Given the description of an element on the screen output the (x, y) to click on. 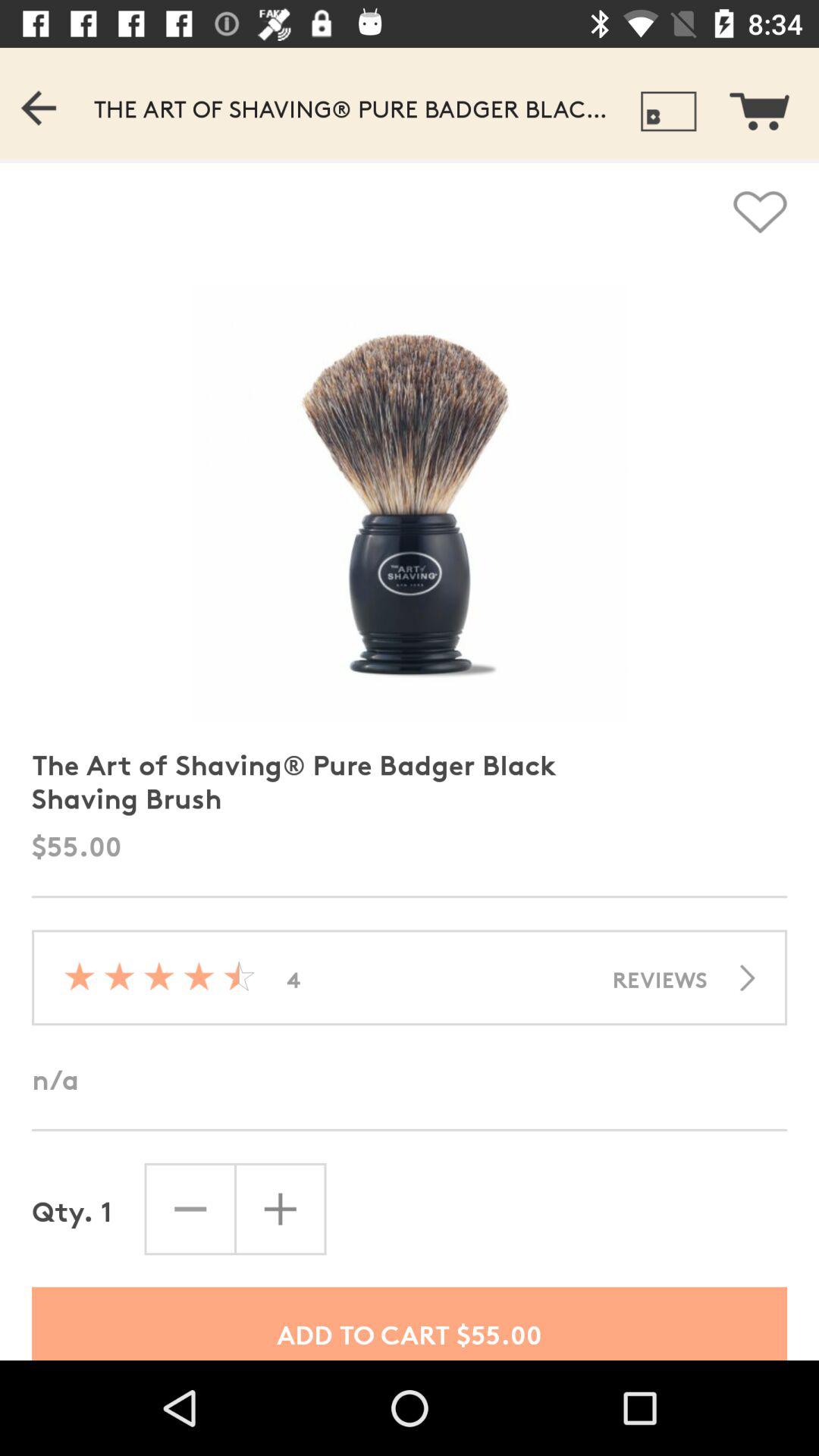
scroll until the add to cart icon (409, 1323)
